Given the description of an element on the screen output the (x, y) to click on. 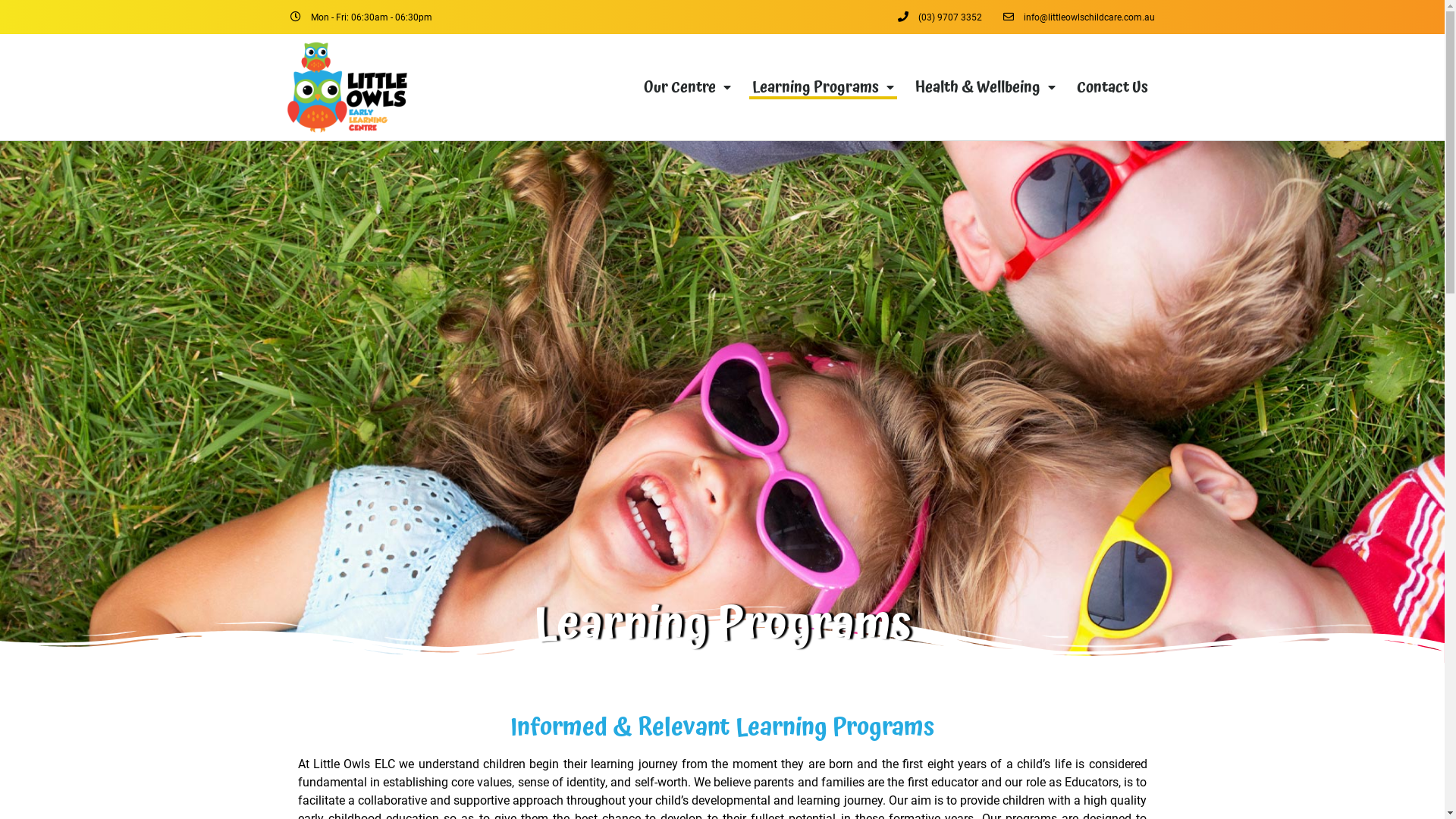
Contact Us Element type: text (1112, 87)
Learning Programs Element type: text (823, 87)
Health & Wellbeing Element type: text (984, 87)
info@littleowlschildcare.com.au Element type: text (1078, 17)
(03) 9707 3352 Element type: text (939, 17)
Our Centre Element type: text (686, 87)
